Given the description of an element on the screen output the (x, y) to click on. 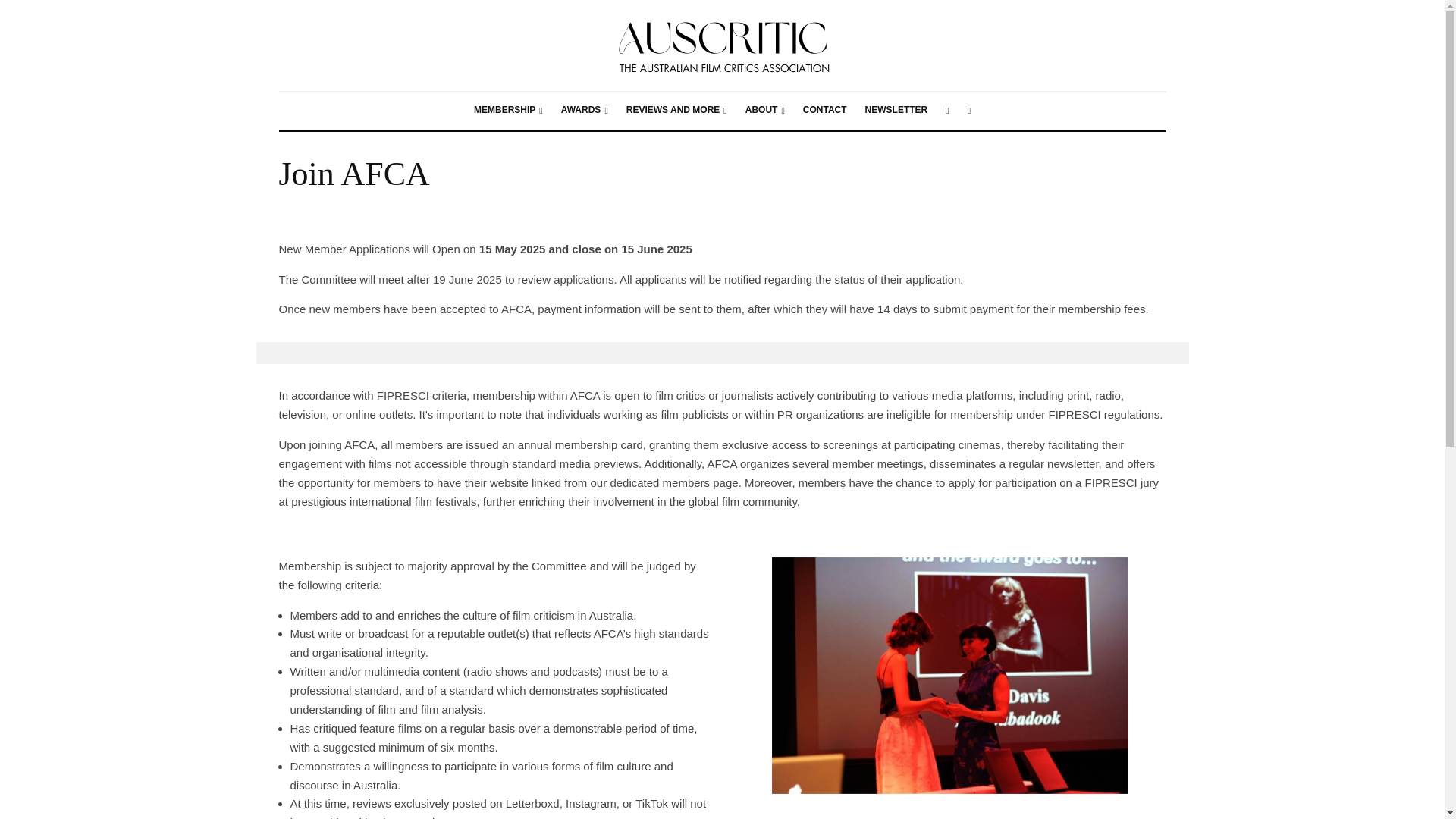
AWARDS (584, 110)
ABOUT (764, 110)
NEWSLETTER (896, 110)
CONTACT (824, 110)
REVIEWS AND MORE (676, 110)
MEMBERSHIP (507, 110)
